Given the description of an element on the screen output the (x, y) to click on. 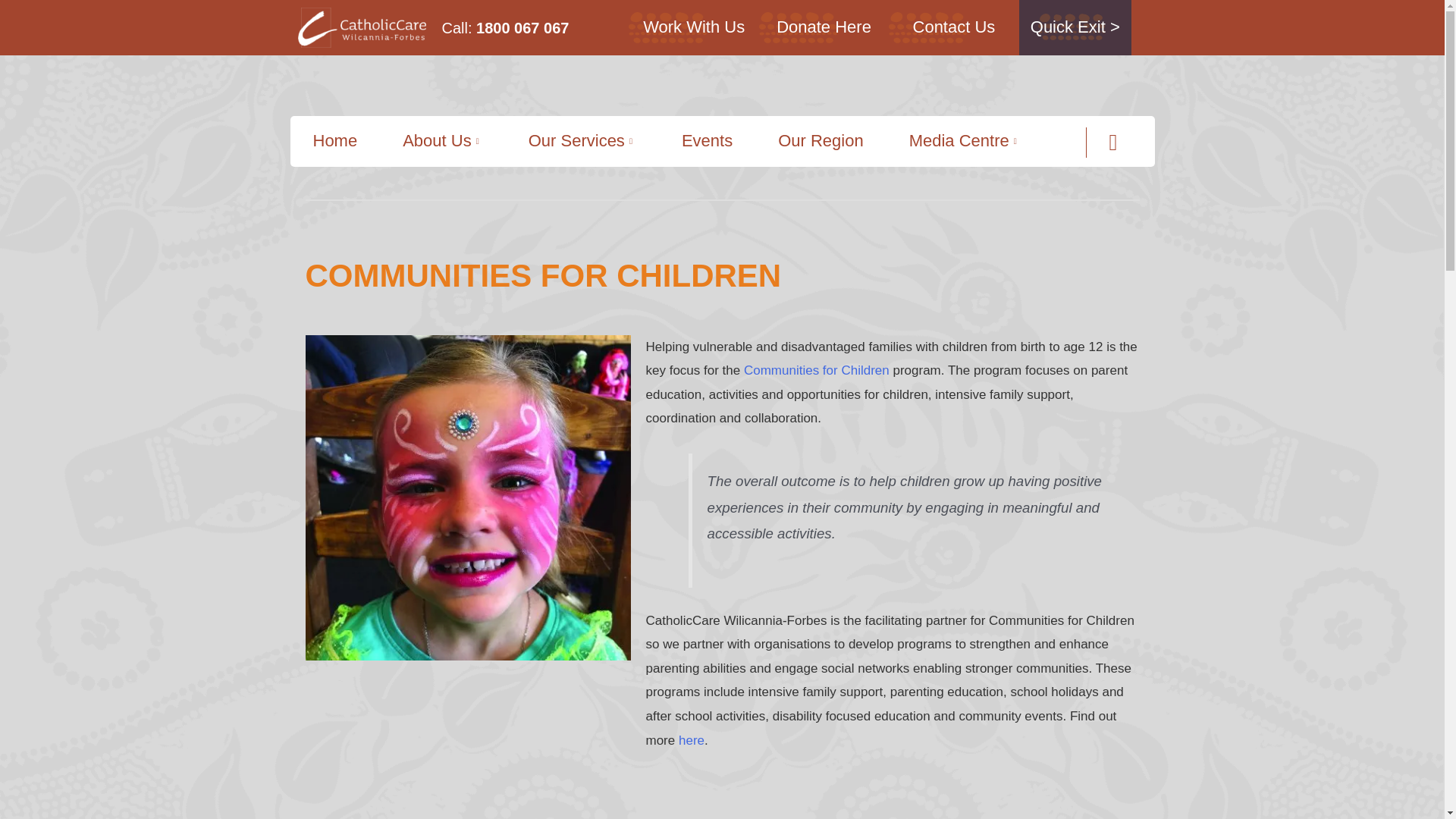
Events (707, 141)
About Us (442, 141)
here (691, 740)
Donate Here (823, 26)
Communities for Children (816, 370)
Media Centre (964, 141)
Call: 1800 067 067 (505, 27)
Home (334, 141)
Work With Us (693, 26)
Our Services (582, 141)
